Given the description of an element on the screen output the (x, y) to click on. 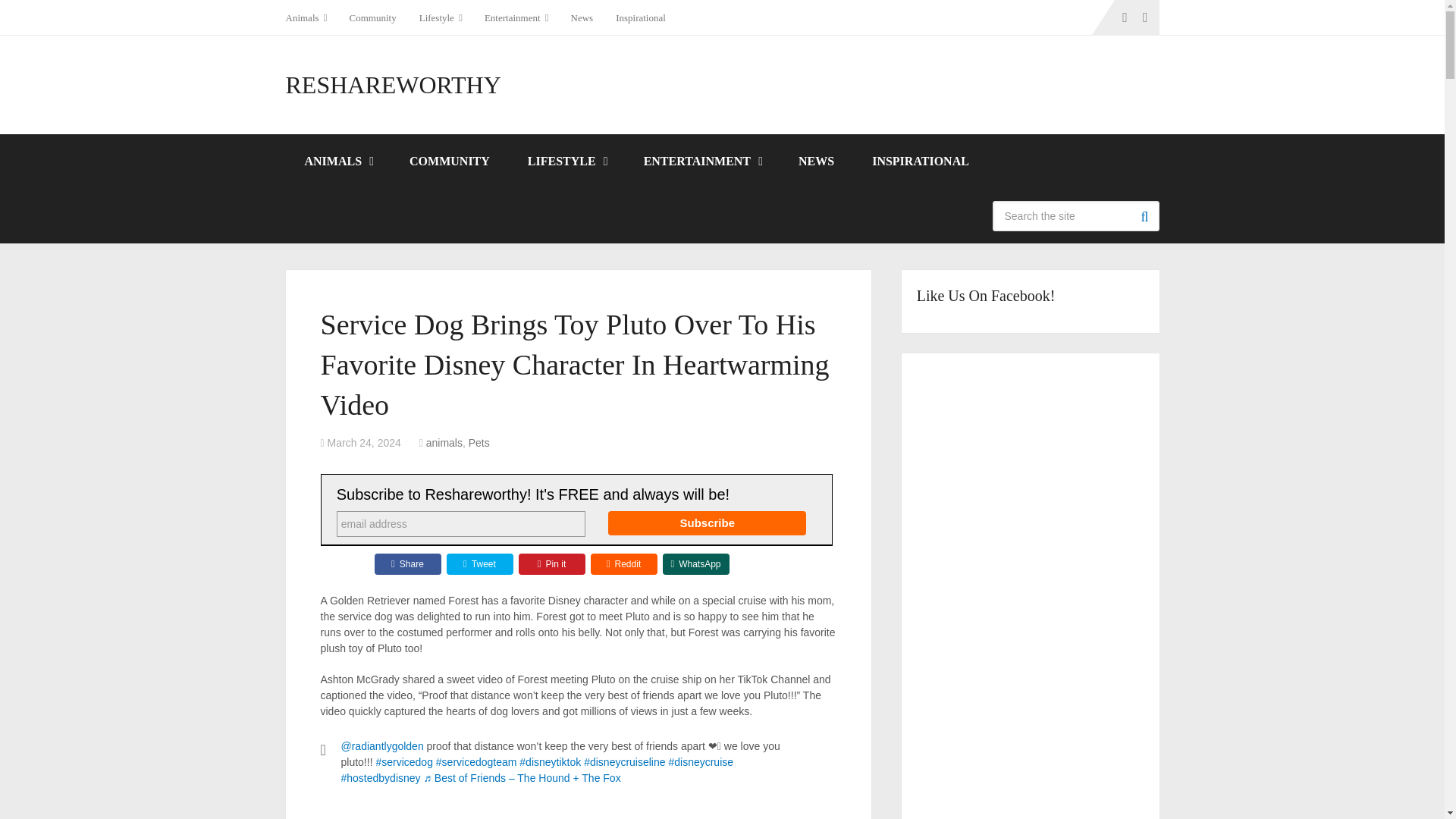
RESHAREWORTHY (392, 84)
LIFESTYLE (566, 161)
INSPIRATIONAL (920, 161)
ANIMALS (337, 161)
View all posts in animals (444, 442)
ENTERTAINMENT (701, 161)
Lifestyle (440, 17)
hostedbydisney (380, 777)
Search (1143, 215)
Community (372, 17)
News (582, 17)
disneycruiseline (624, 761)
Animals (311, 17)
Entertainment (516, 17)
NEWS (815, 161)
